Given the description of an element on the screen output the (x, y) to click on. 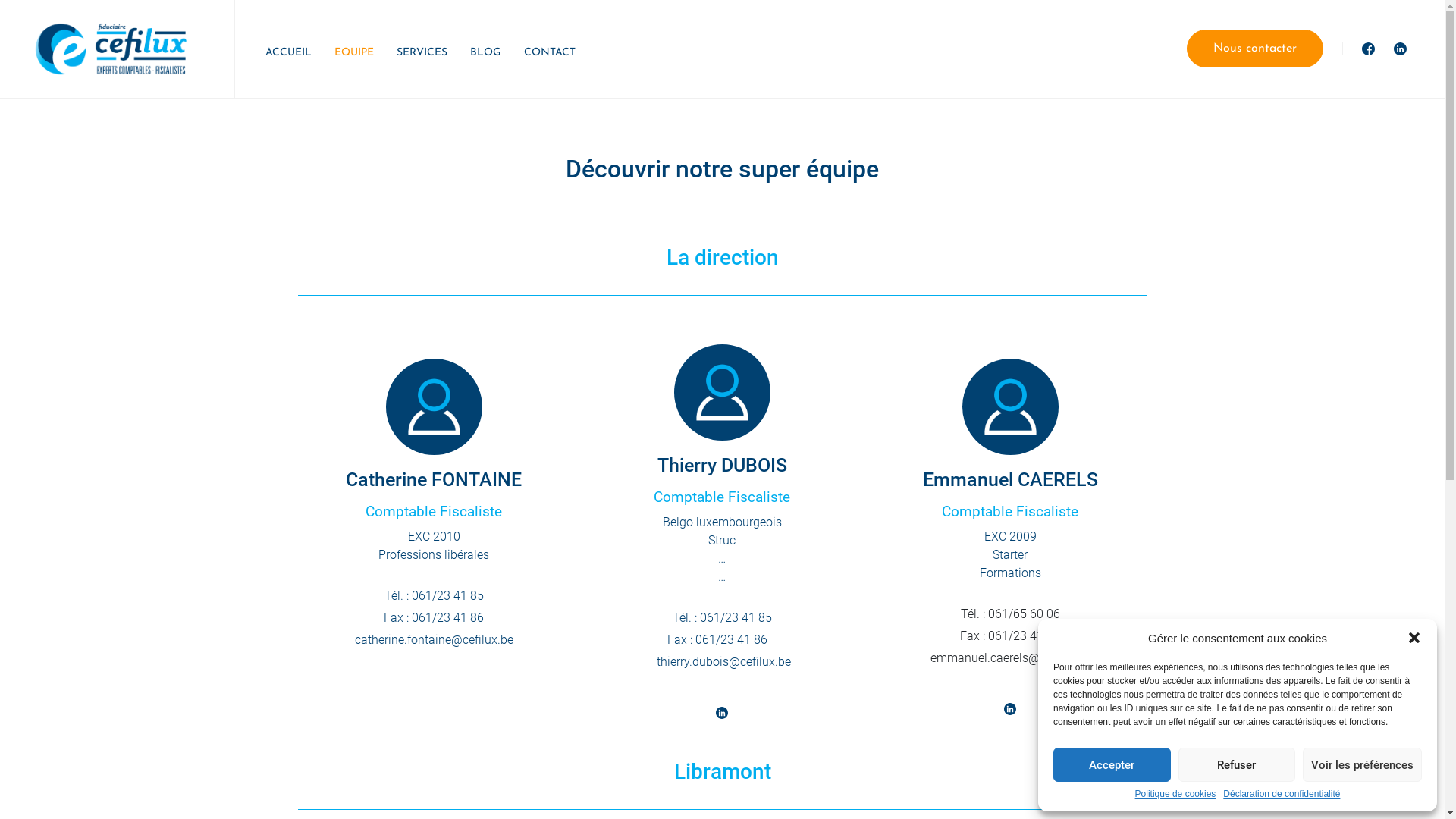
Refuser Element type: text (1236, 764)
Nous contacter Element type: text (1254, 48)
SERVICES Element type: text (421, 52)
Accepter Element type: text (1111, 764)
BLOG Element type: text (485, 52)
ACCUEIL Element type: text (288, 52)
Politique de cookies Element type: text (1175, 794)
EQUIPE Element type: text (353, 52)
CONTACT Element type: text (549, 52)
